Given the description of an element on the screen output the (x, y) to click on. 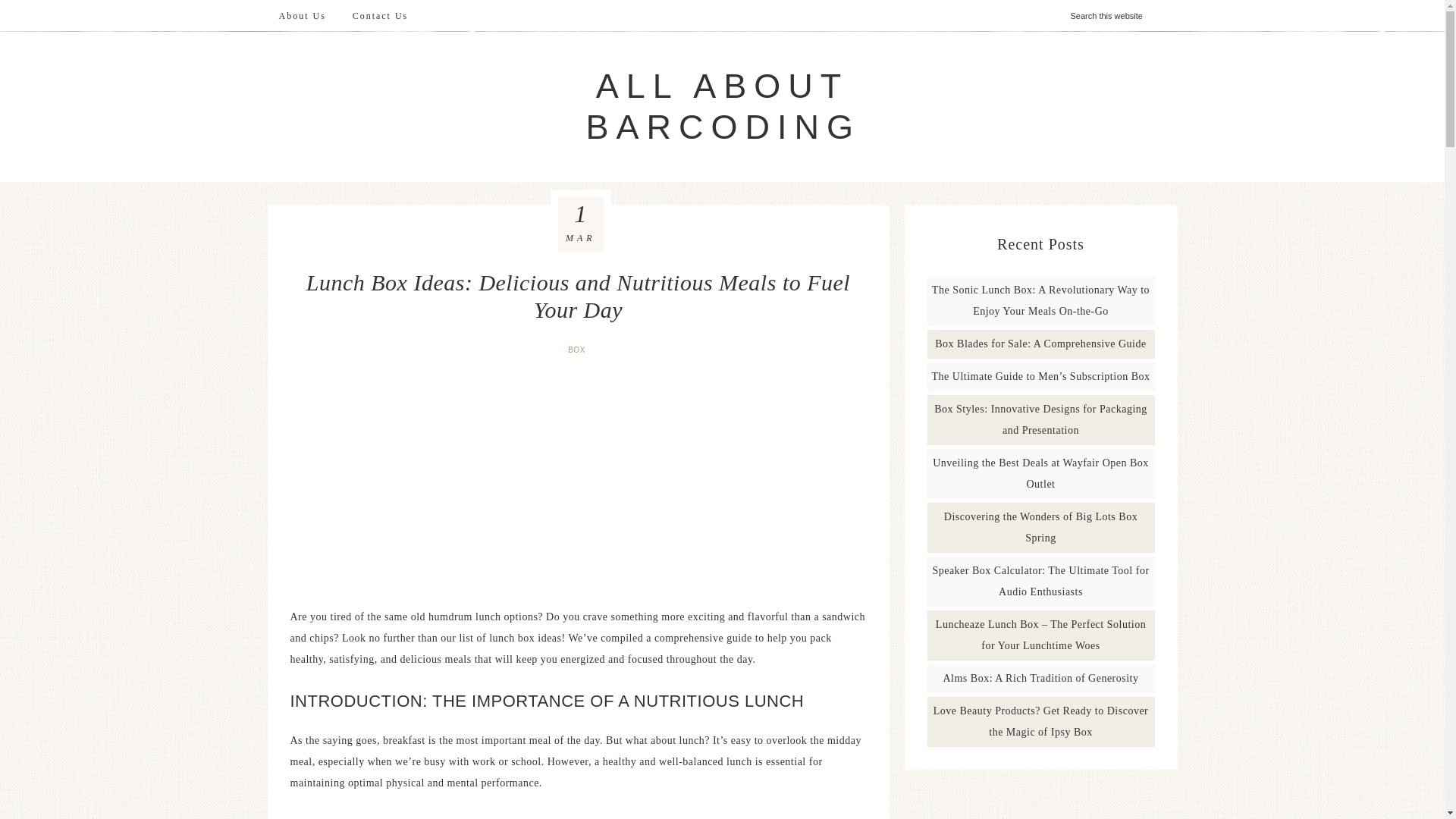
Discovering the Wonders of Big Lots Box Spring (1040, 527)
Box Blades for Sale: A Comprehensive Guide (1039, 343)
ALL ABOUT BARCODING (722, 106)
BOX (577, 349)
Advertisement (577, 479)
About Us (301, 15)
Alms Box: A Rich Tradition of Generosity (1040, 677)
